Given the description of an element on the screen output the (x, y) to click on. 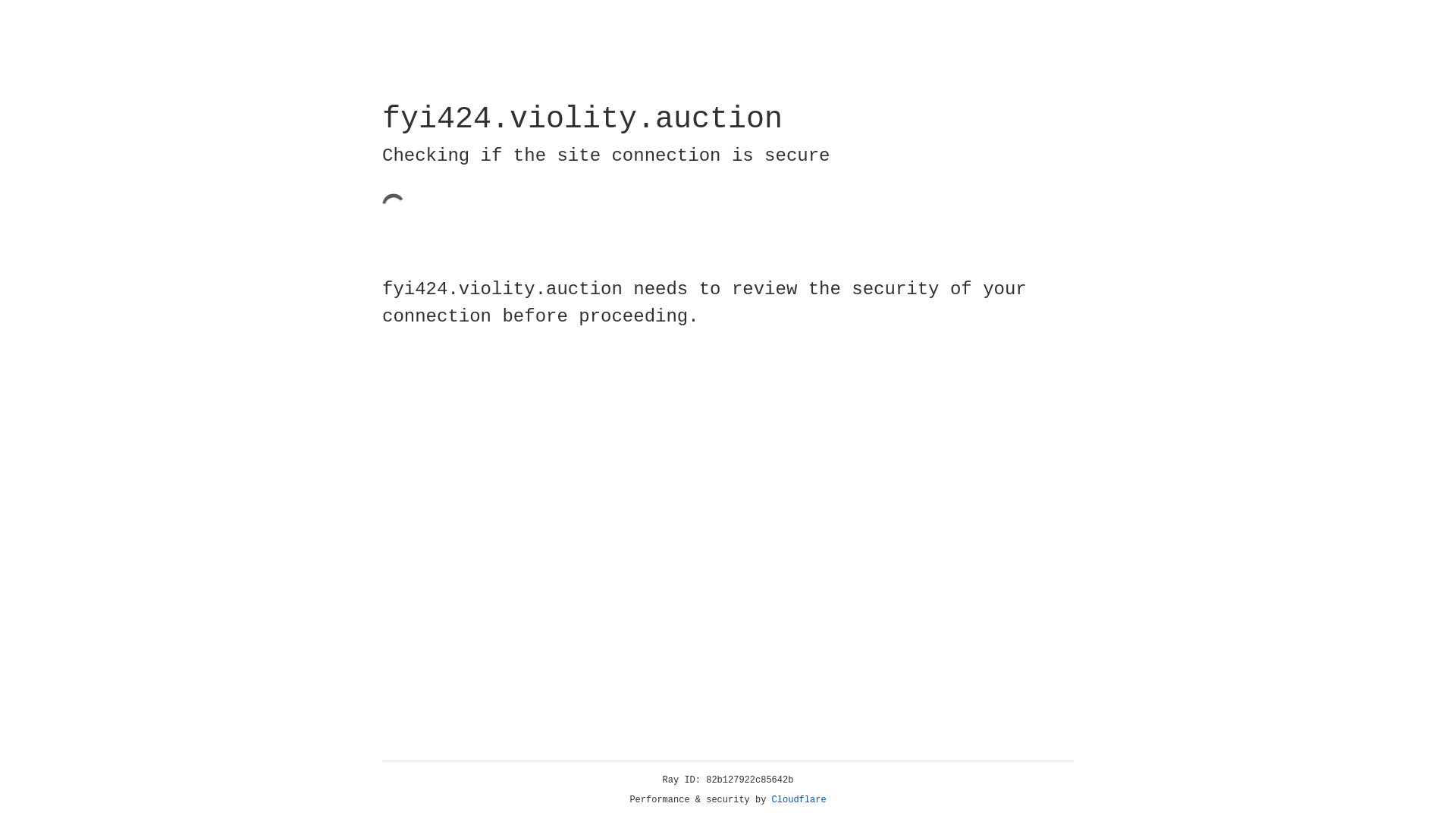
Cloudflare Element type: text (798, 799)
